Given the description of an element on the screen output the (x, y) to click on. 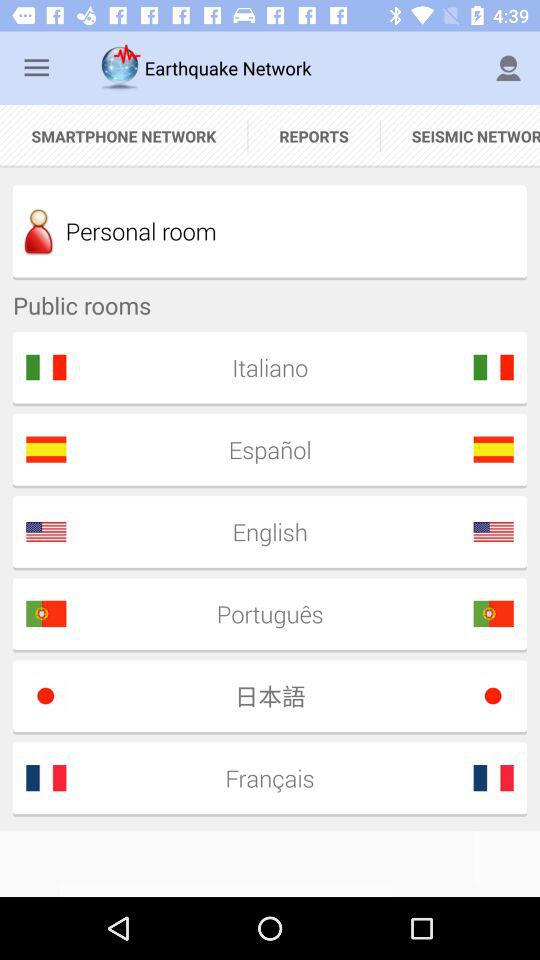
flip to personal room (269, 231)
